Given the description of an element on the screen output the (x, y) to click on. 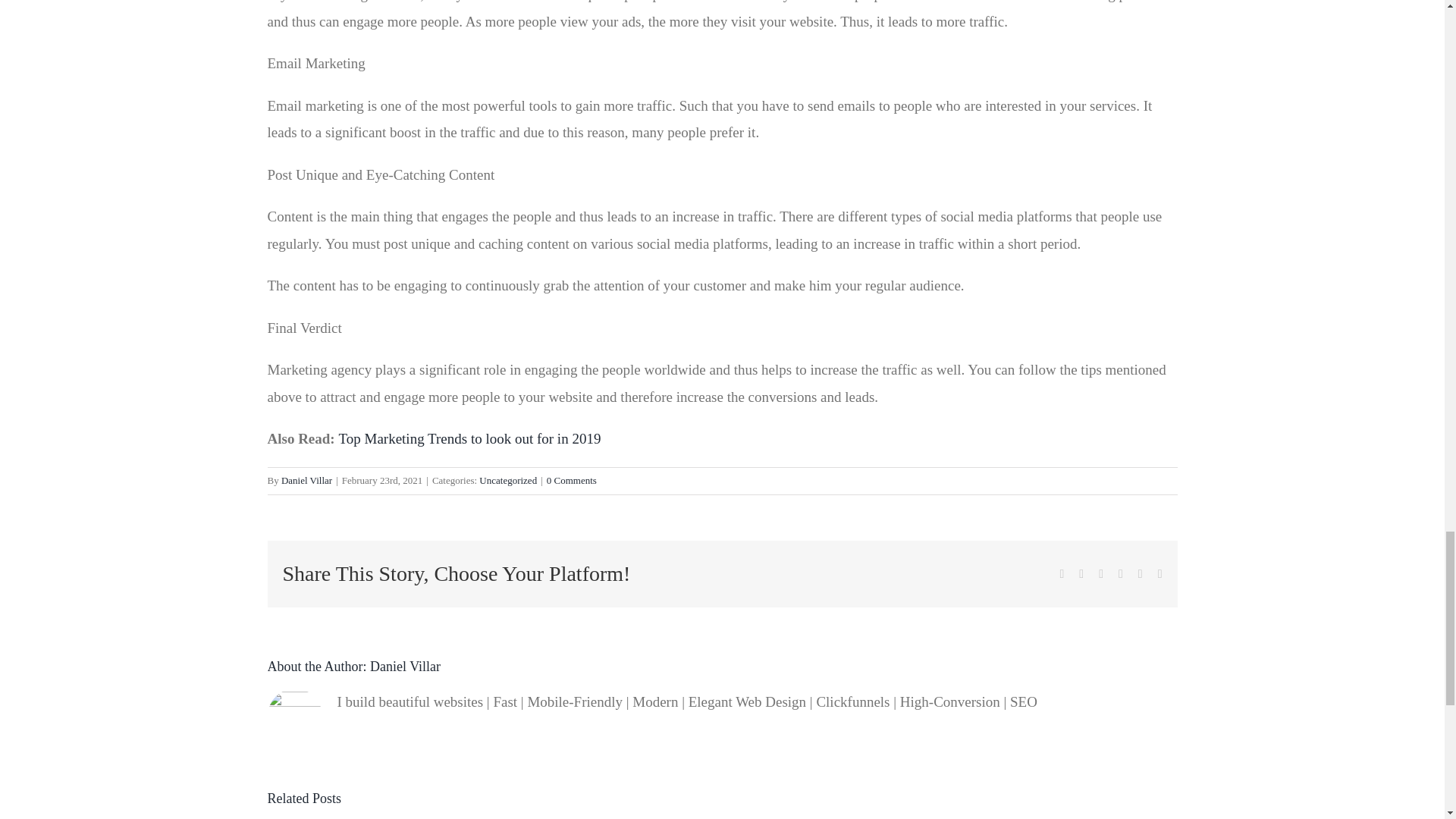
Posts by Daniel Villar (405, 666)
Daniel Villar (405, 666)
Posts by Daniel Villar (306, 480)
Uncategorized (508, 480)
Top Marketing Trends to look out for in 2019 (468, 438)
0 Comments (571, 480)
Daniel Villar (306, 480)
